Given the description of an element on the screen output the (x, y) to click on. 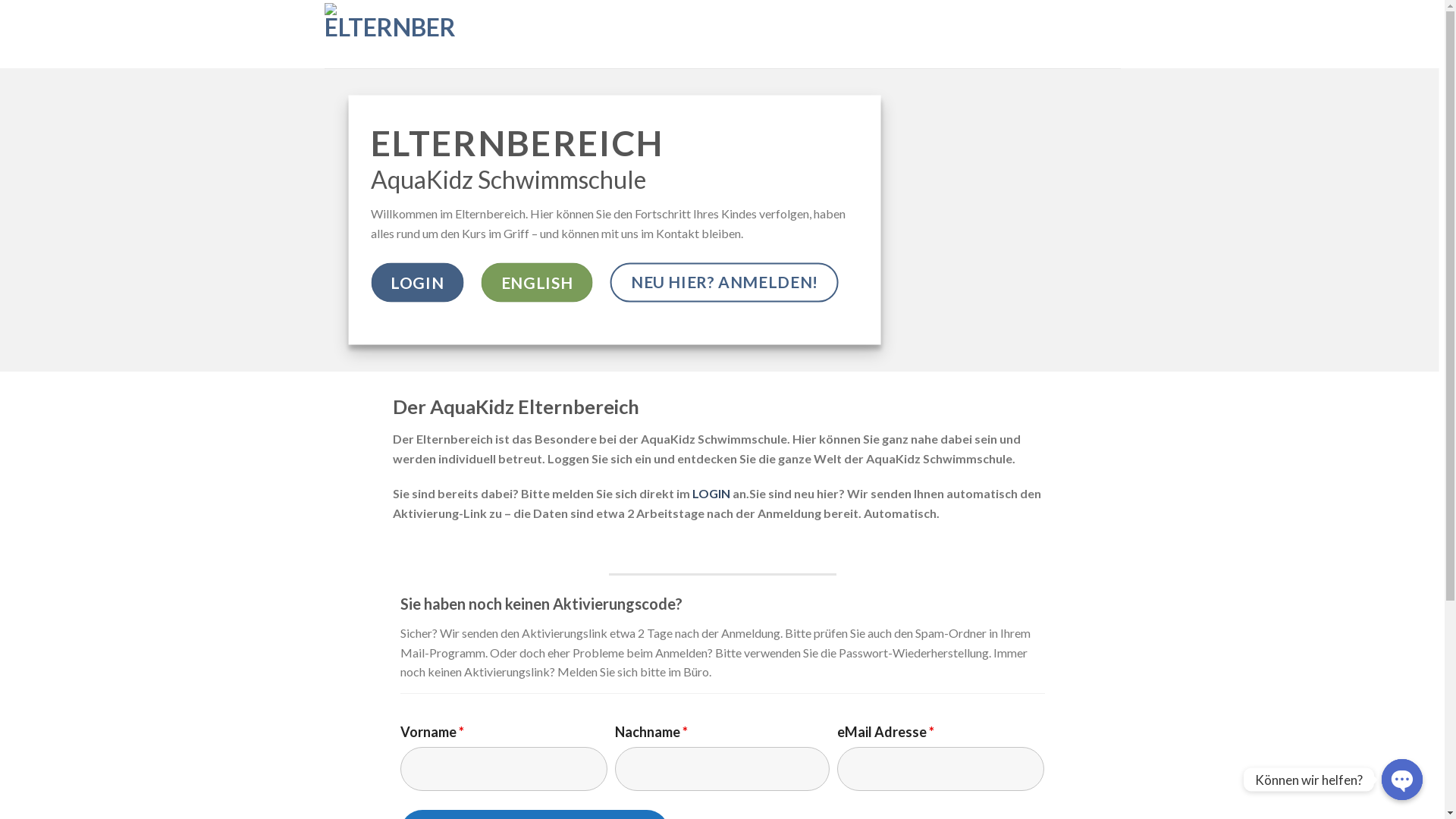
ENGLISH Element type: text (536, 281)
LOGIN Element type: text (710, 493)
NEU HIER? ANMELDEN! Element type: text (724, 281)
Elternbereich - AquaKidz Schwimmschule Element type: hover (410, 34)
LOGIN Element type: text (416, 281)
